Given the description of an element on the screen output the (x, y) to click on. 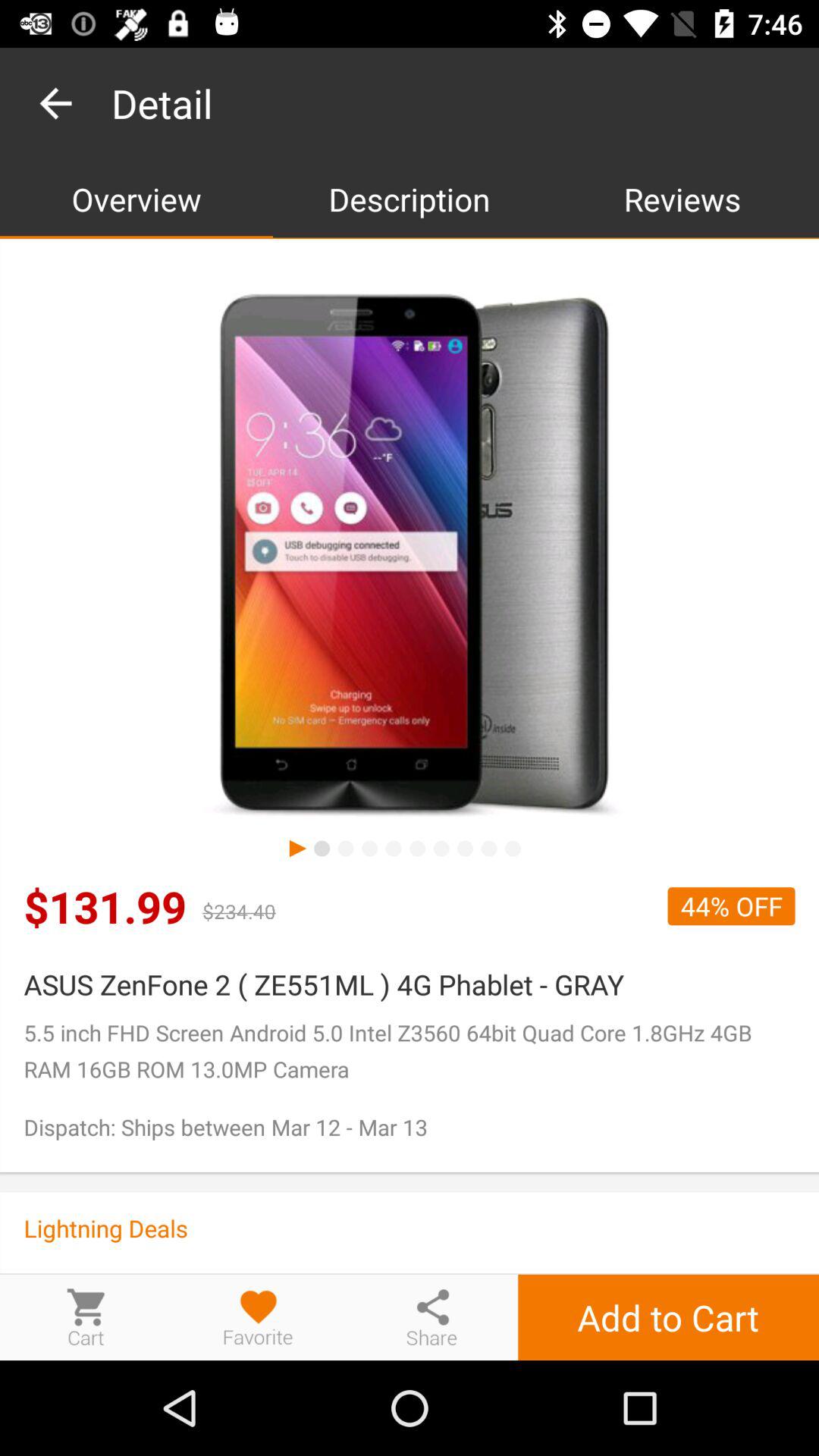
display space of the mobile searched (409, 556)
